Given the description of an element on the screen output the (x, y) to click on. 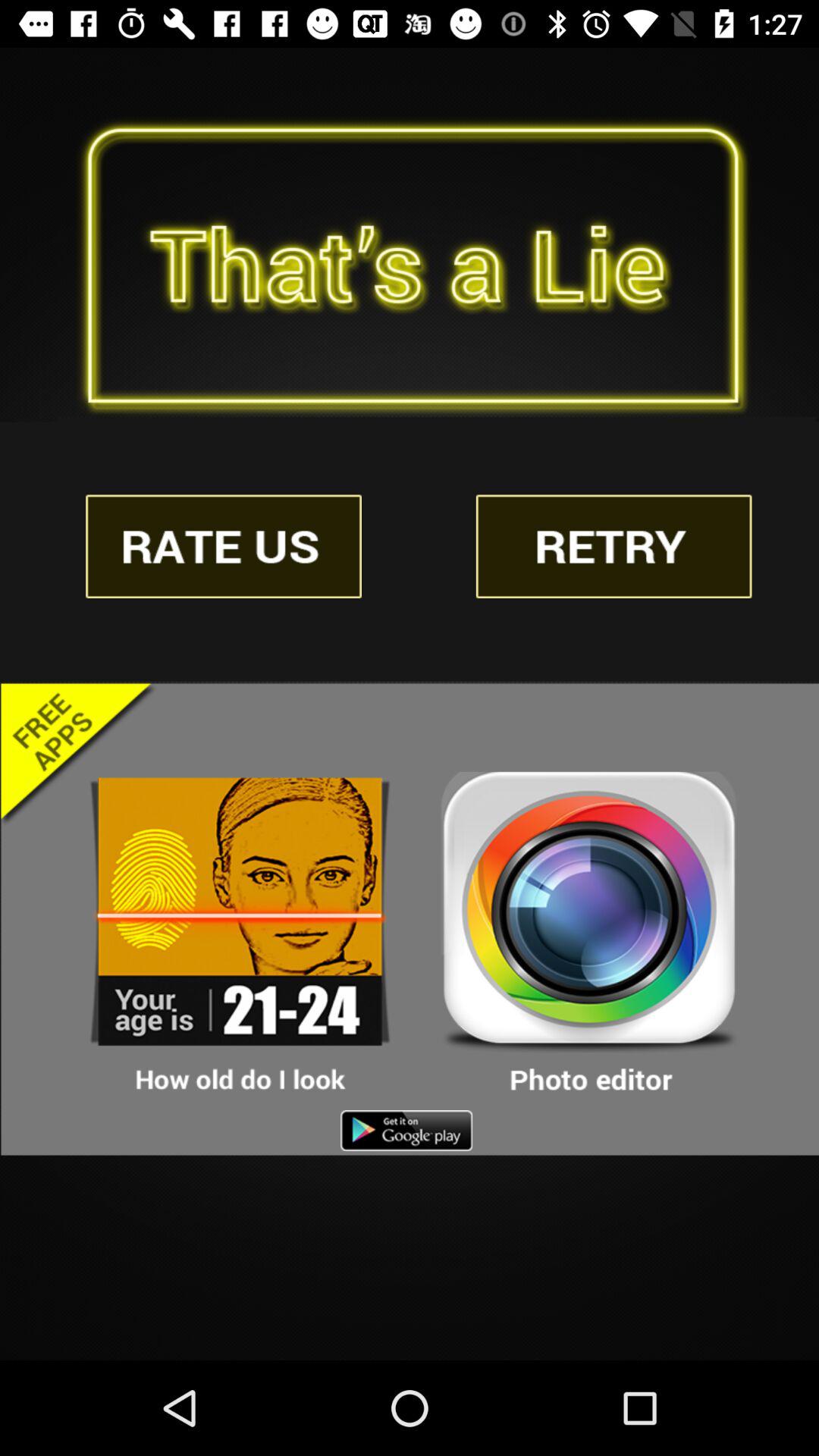
refresh content (613, 546)
